Given the description of an element on the screen output the (x, y) to click on. 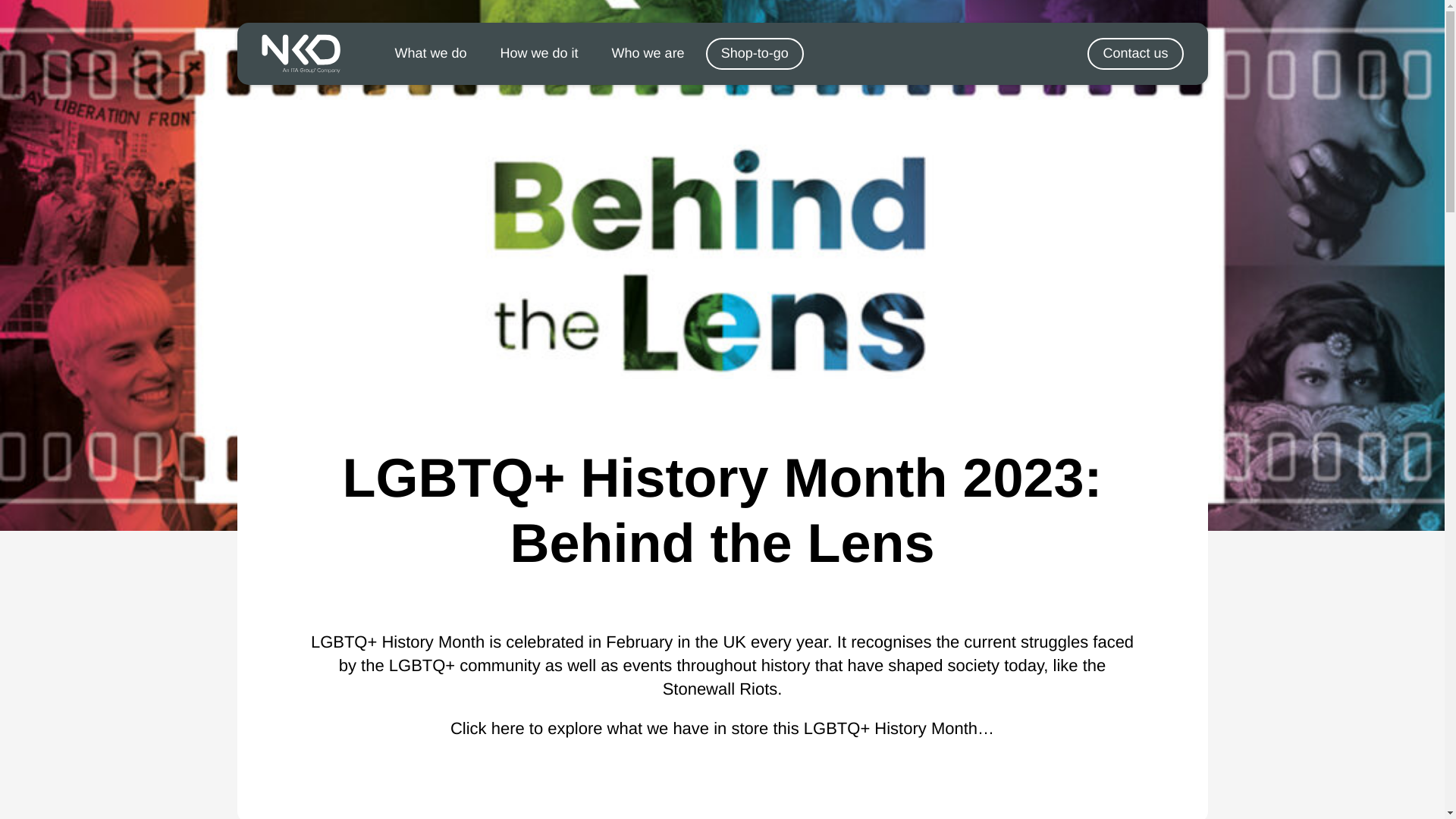
Shop-to-go (754, 53)
Contact us (1134, 53)
Who we are (648, 53)
What we do (430, 53)
How we do it (539, 53)
